Given the description of an element on the screen output the (x, y) to click on. 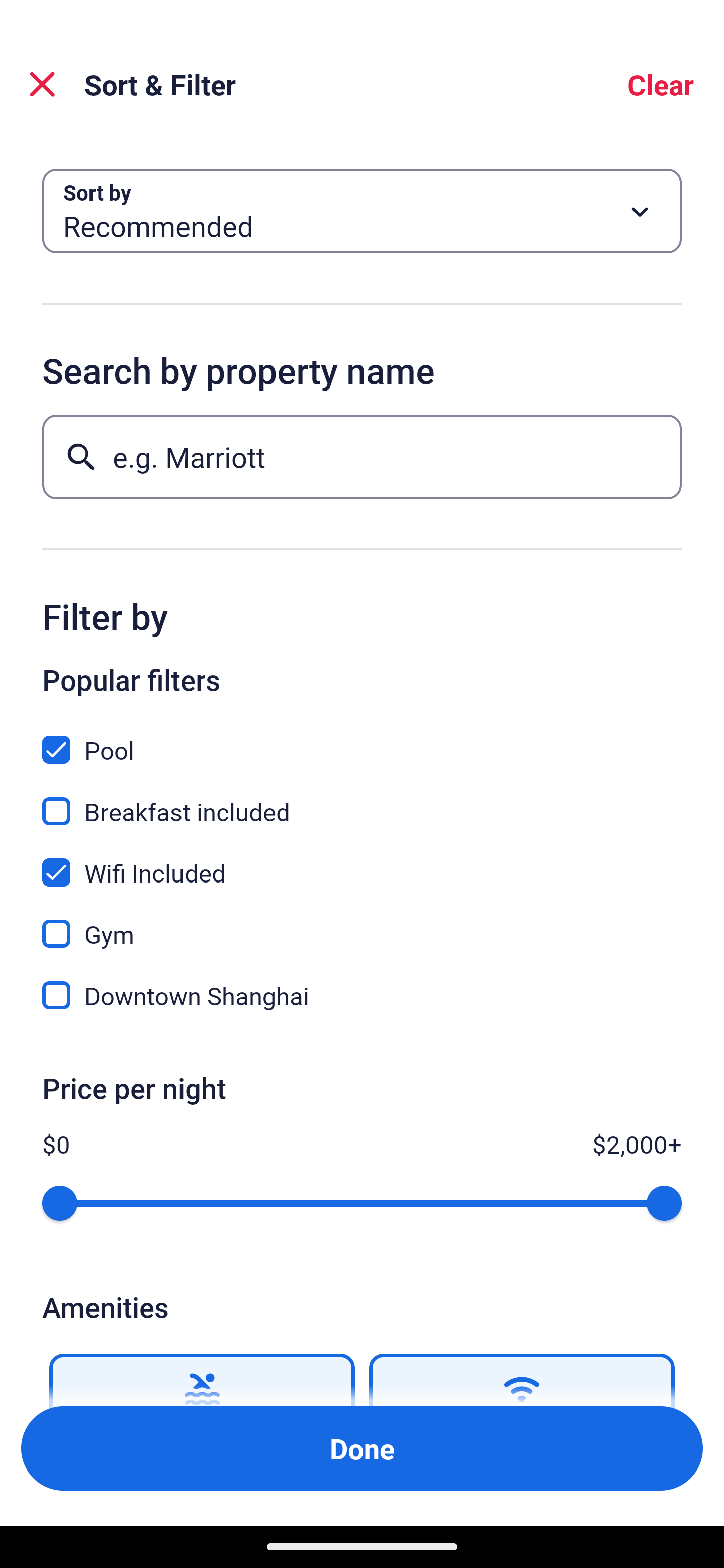
Close Sort and Filter (42, 84)
Clear (660, 84)
Sort by Button Recommended (361, 211)
e.g. Marriott Button (361, 455)
Pool, Pool (361, 738)
Breakfast included, Breakfast included (361, 800)
Wifi Included, Wifi Included (361, 861)
Gym, Gym (361, 922)
Downtown Shanghai, Downtown Shanghai (361, 995)
Apply and close Sort and Filter Done (361, 1448)
